Given the description of an element on the screen output the (x, y) to click on. 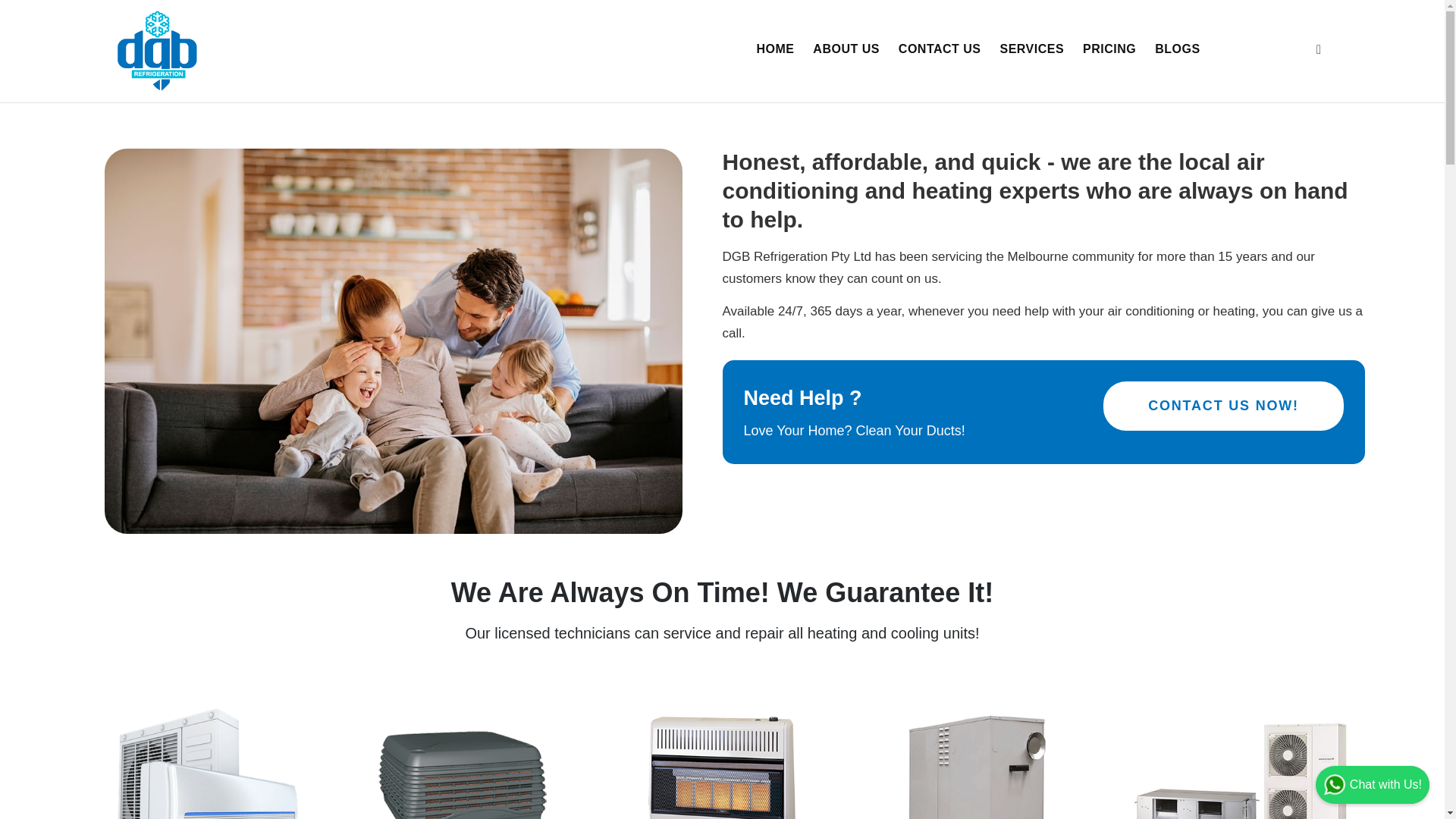
HOME (775, 48)
CONTACT US (939, 48)
DGB (156, 49)
ABOUT US (845, 48)
back to top (1410, 784)
PRICING (1108, 48)
Chat with Us! (1372, 784)
CONTACT US NOW! (1223, 405)
SERVICES (1031, 48)
BLOGS (1177, 48)
